Given the description of an element on the screen output the (x, y) to click on. 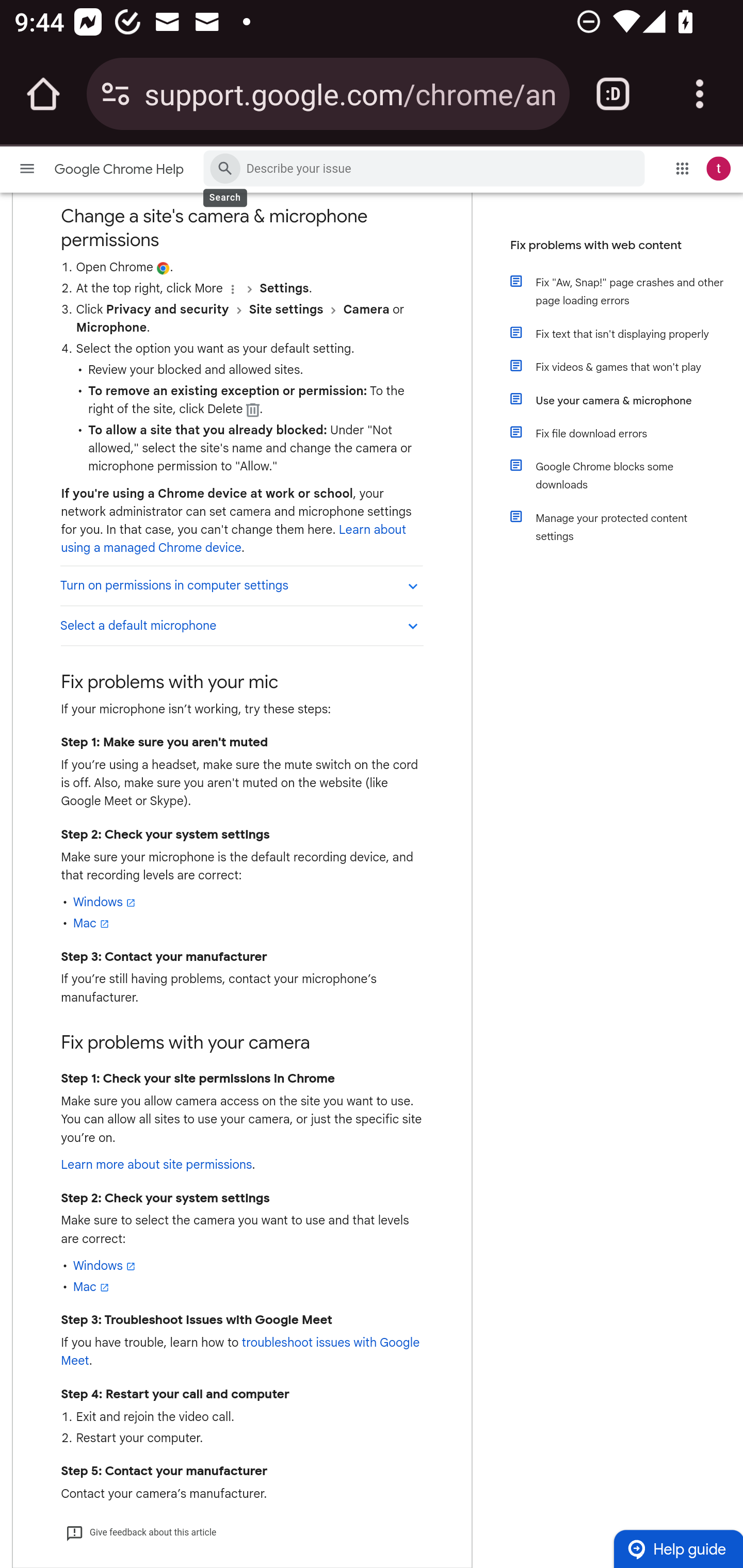
Open the home page (43, 93)
Connection is secure (115, 93)
Switch or close tabs (612, 93)
Customize and control Google Chrome (699, 93)
